Given the description of an element on the screen output the (x, y) to click on. 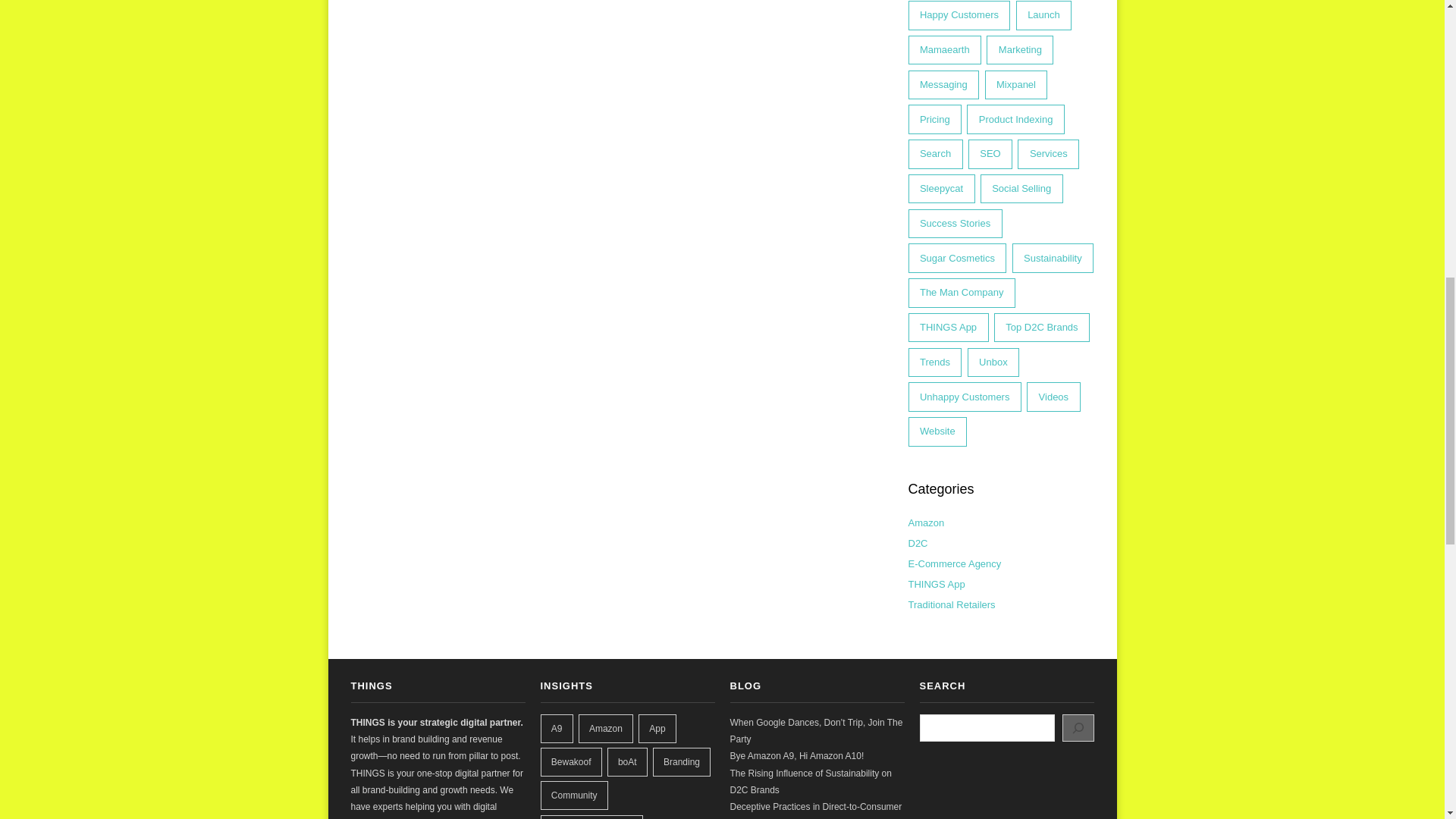
Spotify Embed: Things (1005, 789)
